Given the description of an element on the screen output the (x, y) to click on. 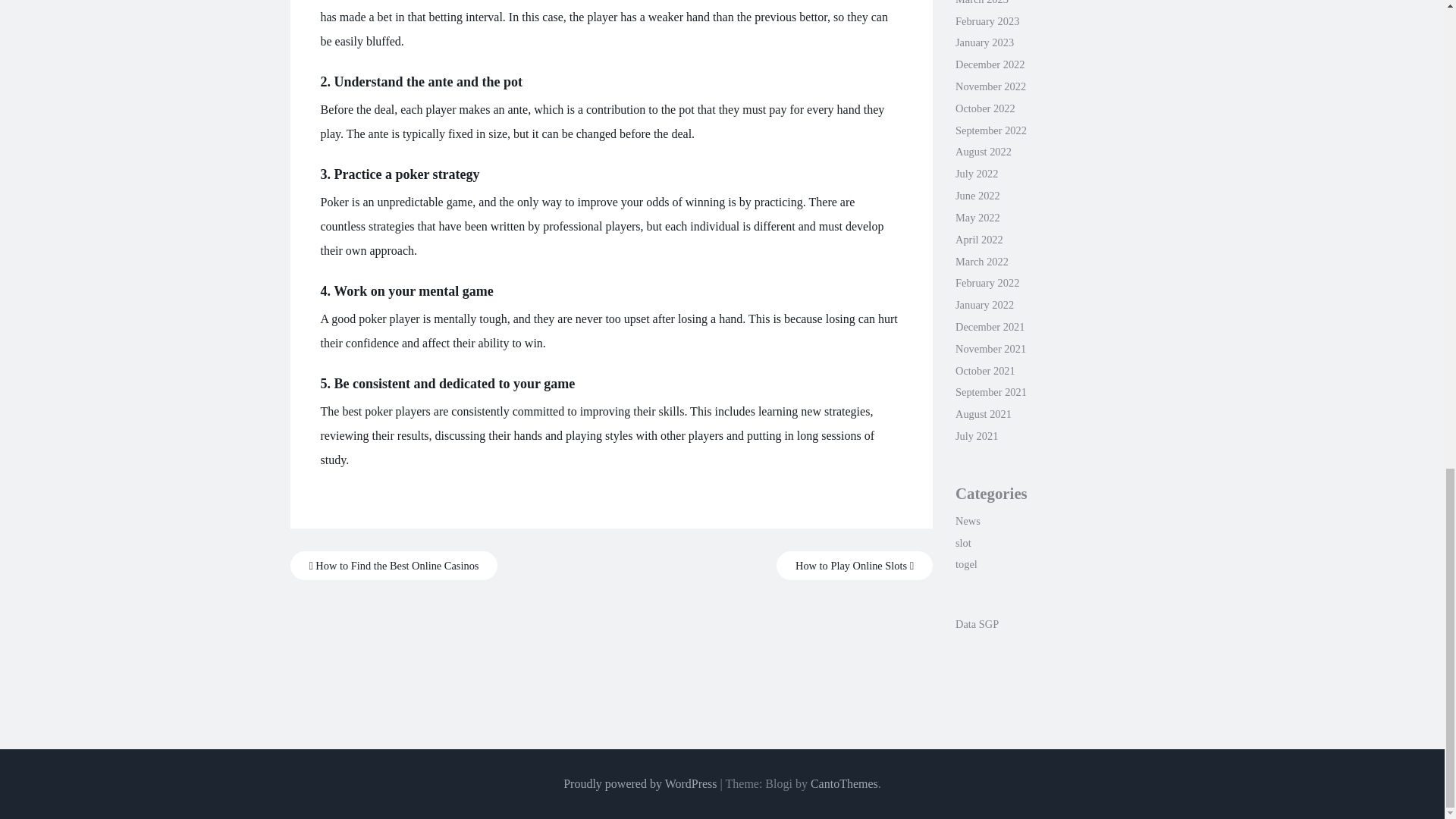
How to Play Online Slots (854, 565)
December 2022 (990, 64)
August 2022 (983, 151)
How to Find the Best Online Casinos (393, 565)
January 2023 (984, 42)
February 2023 (987, 21)
March 2023 (982, 2)
October 2022 (984, 108)
September 2022 (990, 130)
November 2022 (990, 86)
